Given the description of an element on the screen output the (x, y) to click on. 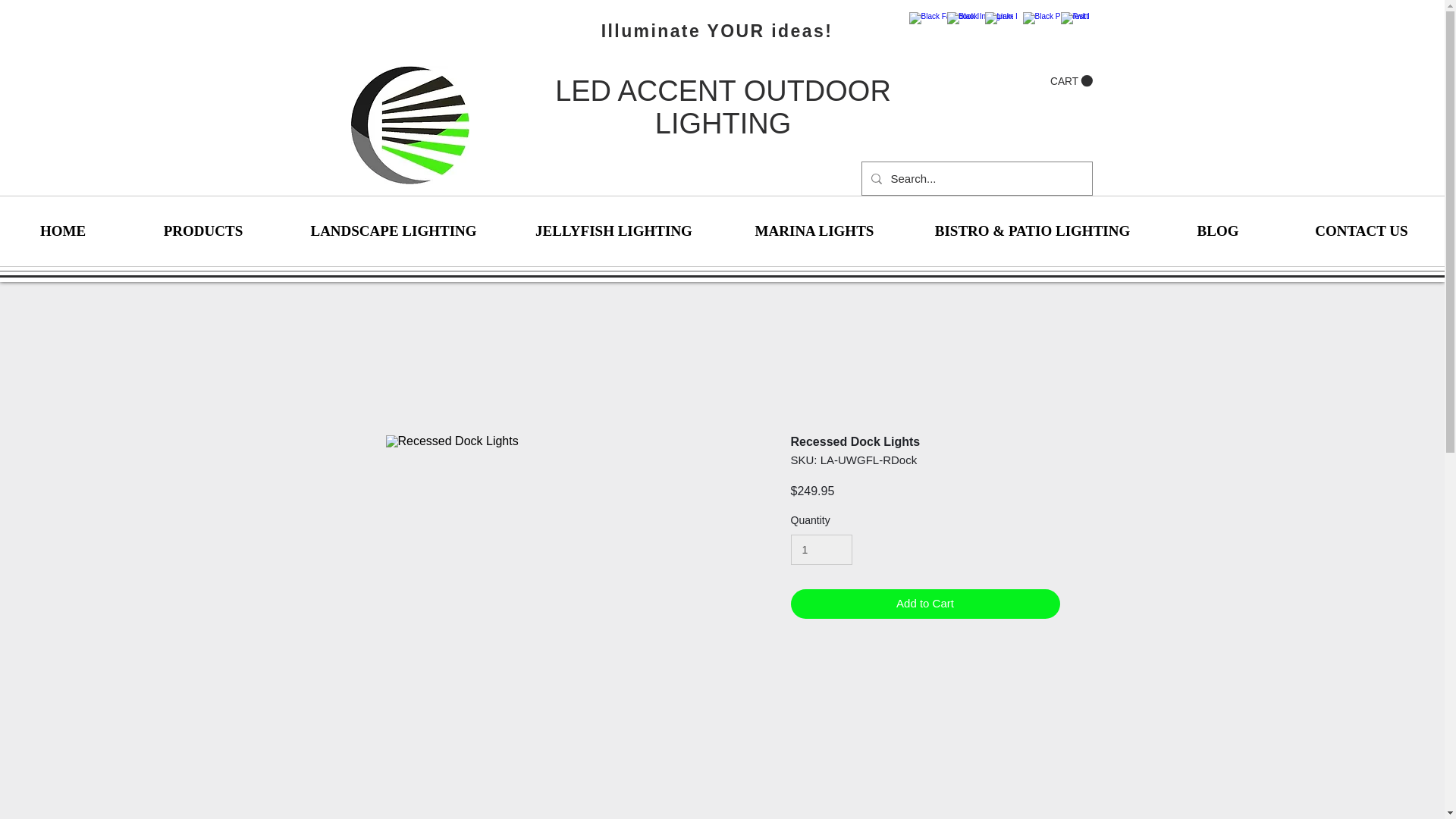
Add to Cart (924, 603)
LANDSCAPE LIGHTING (393, 231)
CART (1070, 80)
HOME (62, 231)
BLOG (1217, 231)
JELLYFISH LIGHTING (613, 231)
LED ACCENT OUTDOOR LIGHTING (722, 107)
PRODUCTS (203, 231)
CART (1070, 80)
MARINA LIGHTS (813, 231)
